Given the description of an element on the screen output the (x, y) to click on. 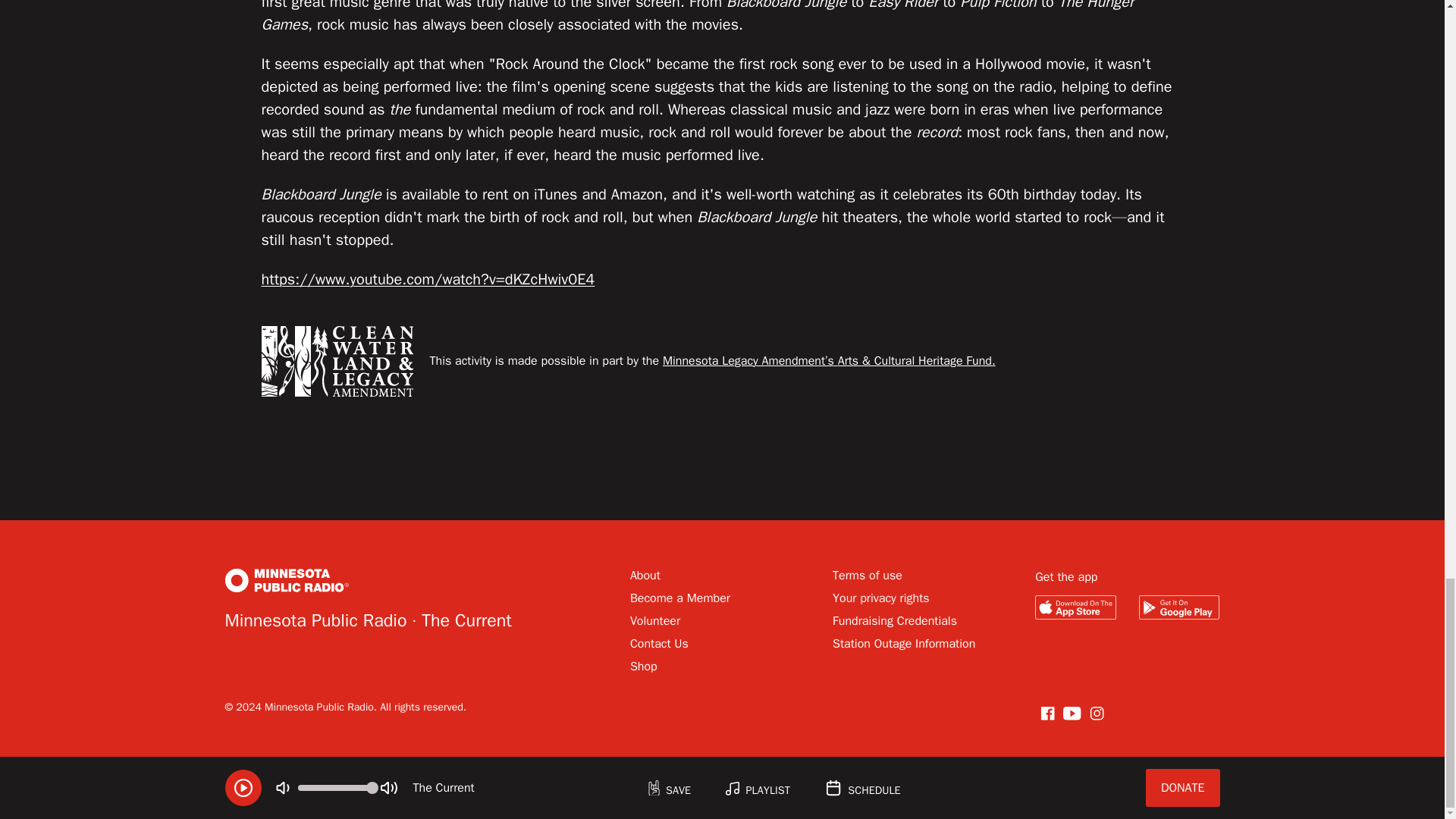
Shop (644, 666)
Volunteer (654, 620)
Your privacy rights (881, 598)
Become a Member (680, 598)
Station Outage Information (903, 643)
Terms of use (867, 575)
Fundraising Credentials (894, 620)
Contact Us (659, 643)
